Given the description of an element on the screen output the (x, y) to click on. 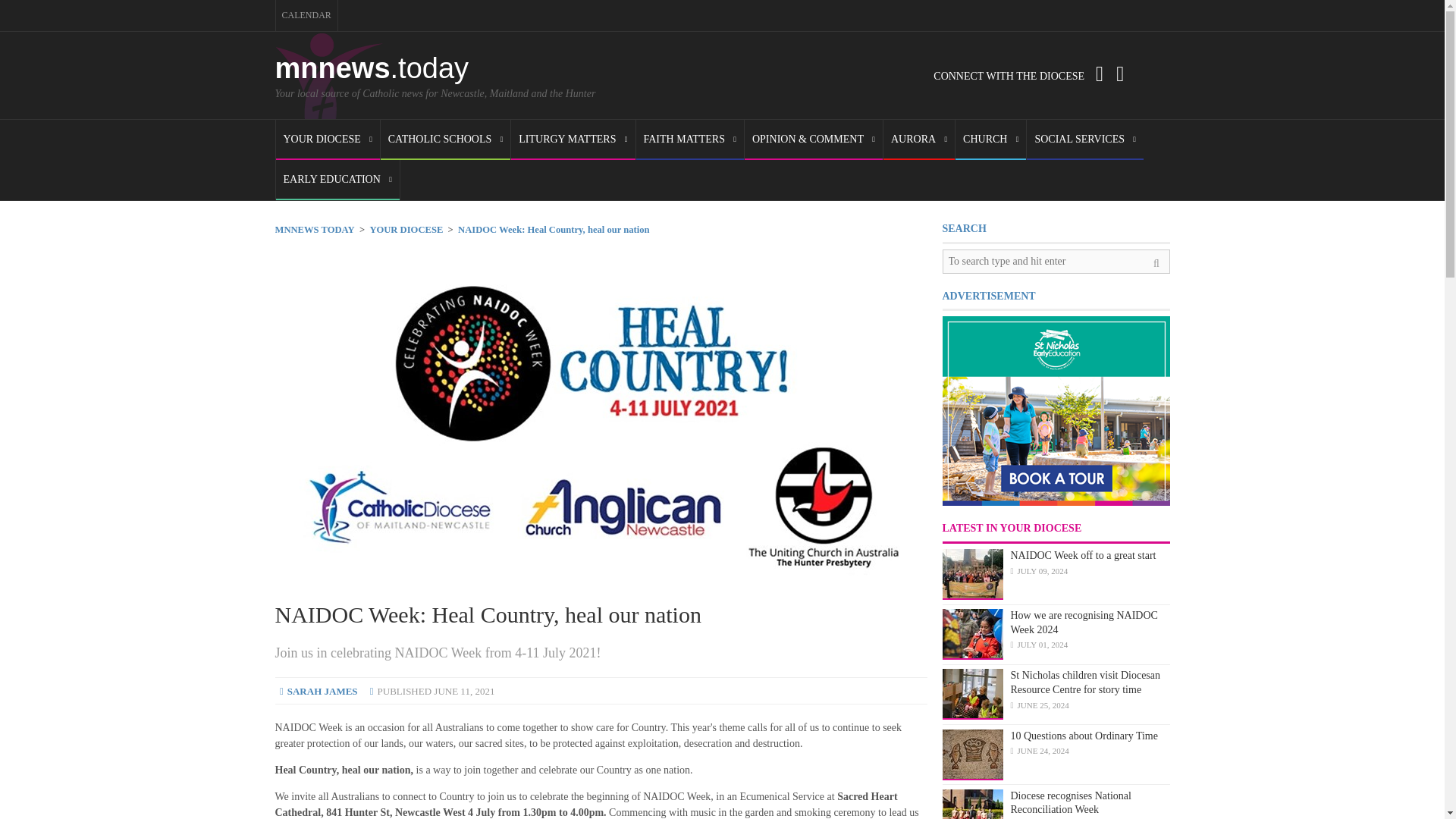
CALENDAR (306, 15)
mnnews.today (371, 68)
LITURGY MATTERS (572, 139)
YOUR DIOCESE (328, 139)
CATHOLIC SCHOOLS (445, 139)
